Given the description of an element on the screen output the (x, y) to click on. 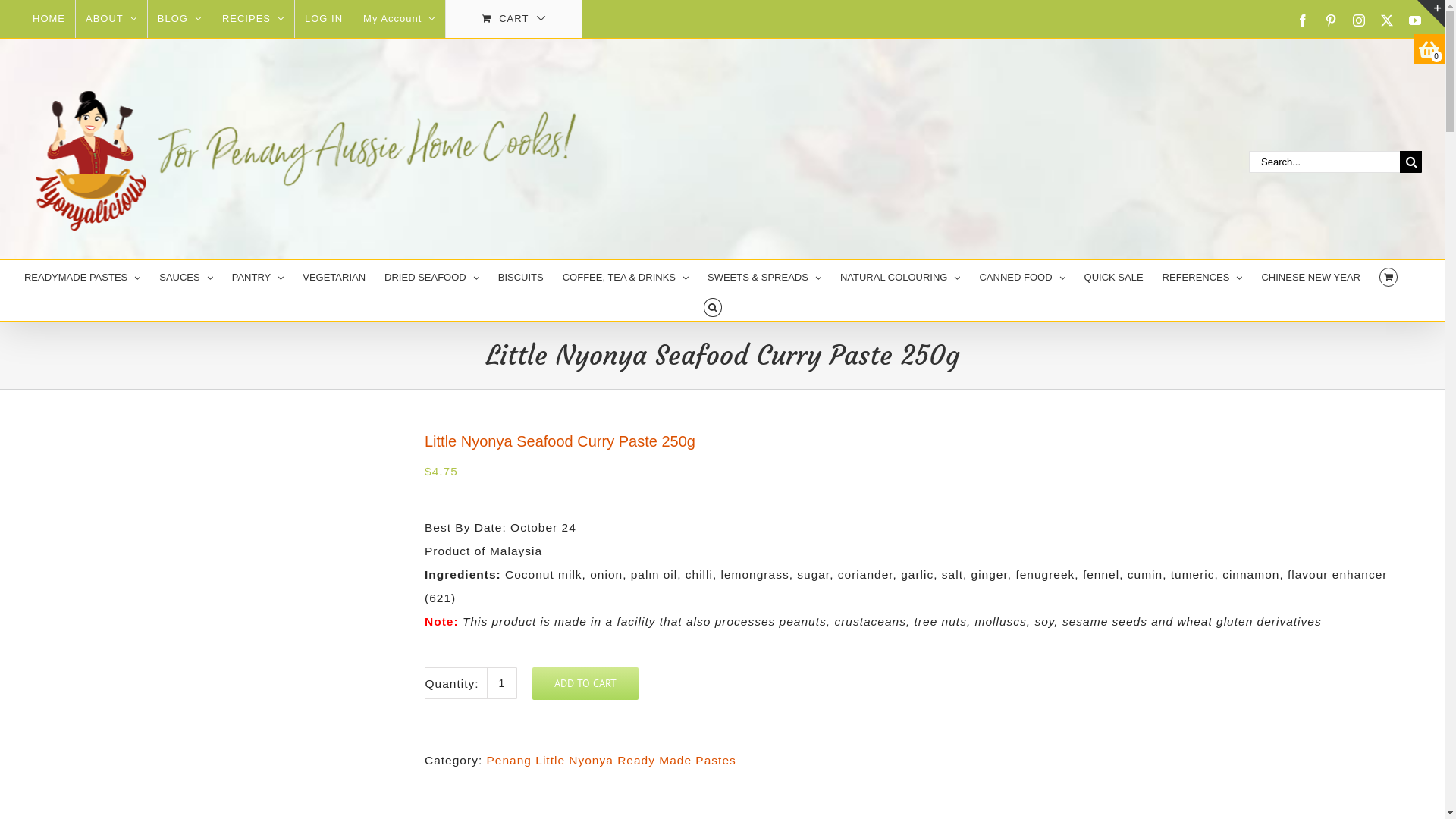
QUICK SALE Element type: text (1113, 275)
Search Element type: hover (712, 305)
REFERENCES Element type: text (1202, 275)
READYMADE PASTES Element type: text (82, 275)
Twitter Element type: text (1386, 19)
COFFEE, TEA & DRINKS Element type: text (625, 275)
My Account Element type: text (399, 18)
Pinterest Element type: text (1330, 19)
CANNED FOOD Element type: text (1021, 275)
CHINESE NEW YEAR Element type: text (1310, 275)
CART Element type: text (513, 18)
Penang Little Nyonya Ready Made Pastes Element type: text (611, 759)
Instagram Element type: text (1358, 19)
LOG IN Element type: text (323, 18)
RECIPES Element type: text (253, 18)
Toggle Sliding Bar Area Element type: text (1430, 13)
HOME Element type: text (48, 18)
Log In Element type: text (445, 149)
Facebook Element type: text (1302, 19)
BLOG Element type: text (179, 18)
DRIED SEAFOOD Element type: text (431, 275)
SAUCES Element type: text (185, 275)
PANTRY Element type: text (258, 275)
ADD TO CART Element type: text (585, 683)
ABOUT Element type: text (111, 18)
VEGETARIAN Element type: text (333, 275)
SWEETS & SPREADS Element type: text (764, 275)
NATURAL COLOURING Element type: text (900, 275)
YouTube Element type: text (1414, 19)
BISCUITS Element type: text (520, 275)
